Given the description of an element on the screen output the (x, y) to click on. 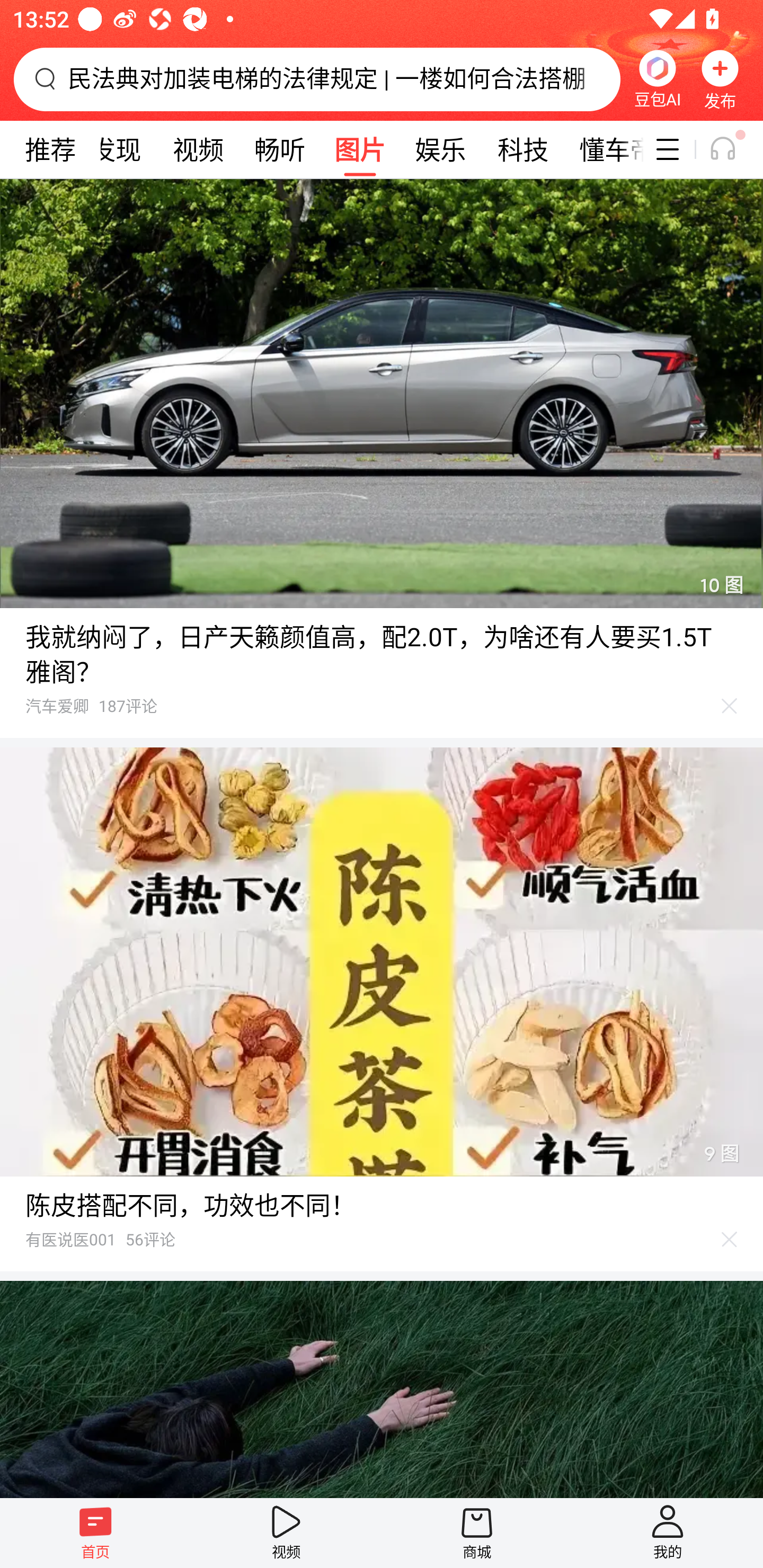
豆包AI AI回答，按钮 (657, 78)
发布 发布，按钮 (720, 78)
推荐 (49, 149)
发现 (115, 149)
视频 (198, 149)
畅听 (279, 149)
图片 (359, 149)
娱乐 (440, 149)
科技 (522, 149)
懂车帝 (603, 149)
听一听开关 (732, 149)
不感兴趣 (729, 705)
不感兴趣 (729, 1239)
今日壁纸|就做自己吧，奇怪一点也没关系的。作者为  是你的荼荼呀  66评论   文章 (381, 1389)
首页 (95, 1532)
视频 (285, 1532)
商城 (476, 1532)
我的 (667, 1532)
